Given the description of an element on the screen output the (x, y) to click on. 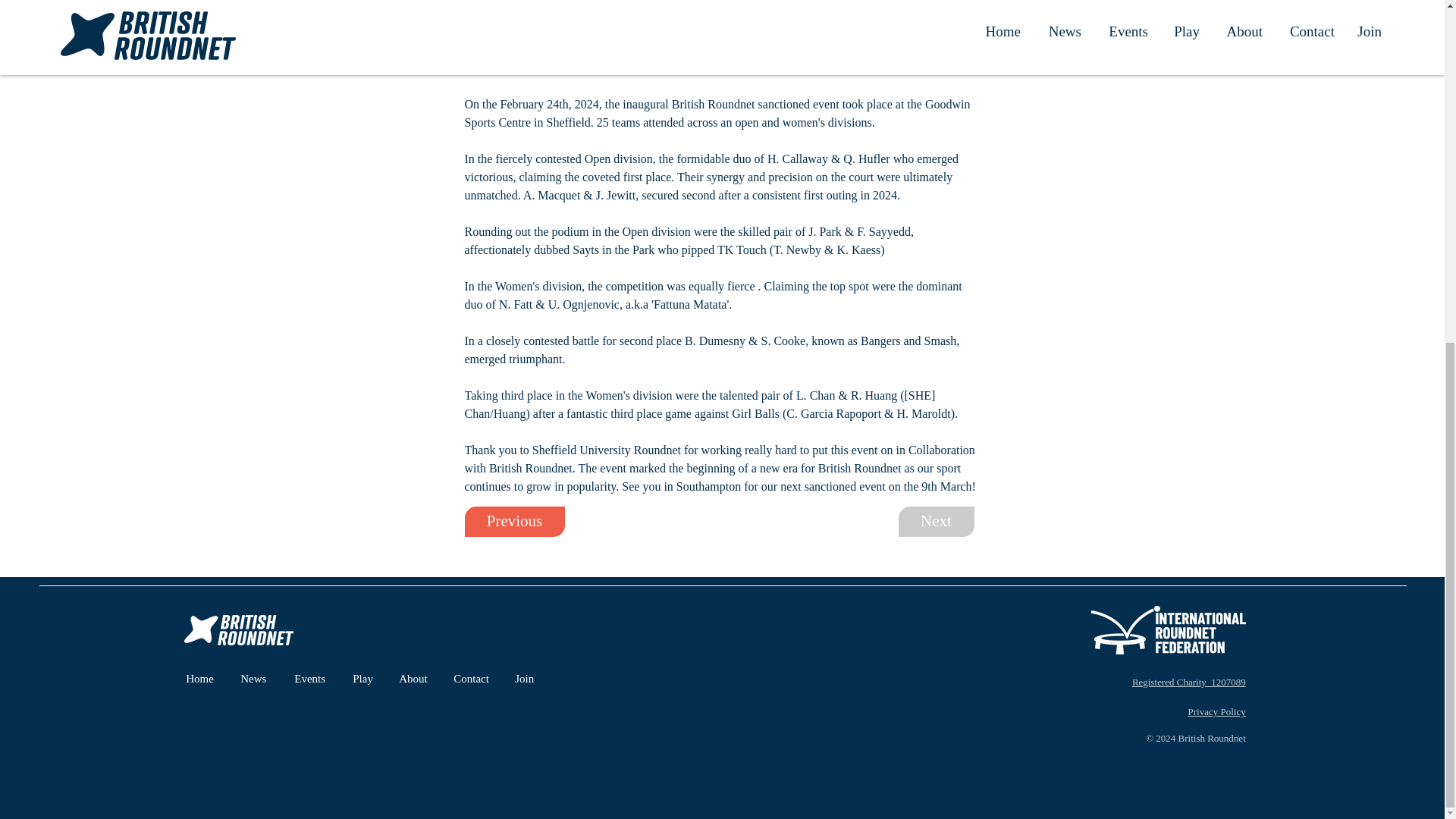
Previous (514, 521)
Join (523, 678)
Privacy Policy (1217, 711)
About (414, 678)
Play (363, 678)
Home (201, 678)
Next (936, 521)
Registered Charity  1207089 (1189, 681)
News (255, 678)
Sheffield Spring Open (781, 67)
Contact (472, 678)
Events (311, 678)
